Given the description of an element on the screen output the (x, y) to click on. 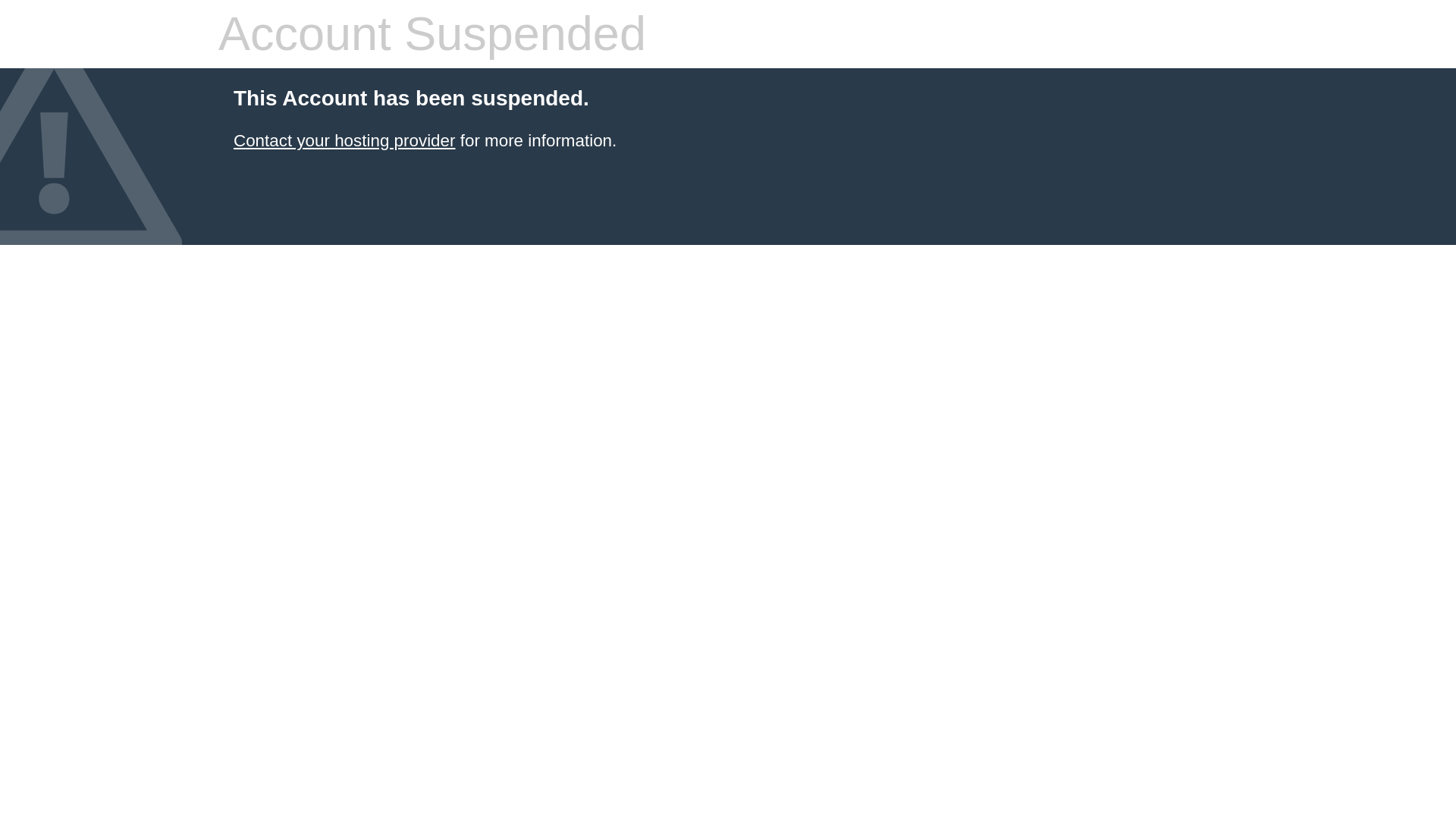
Contact your hosting provider (343, 140)
